Given the description of an element on the screen output the (x, y) to click on. 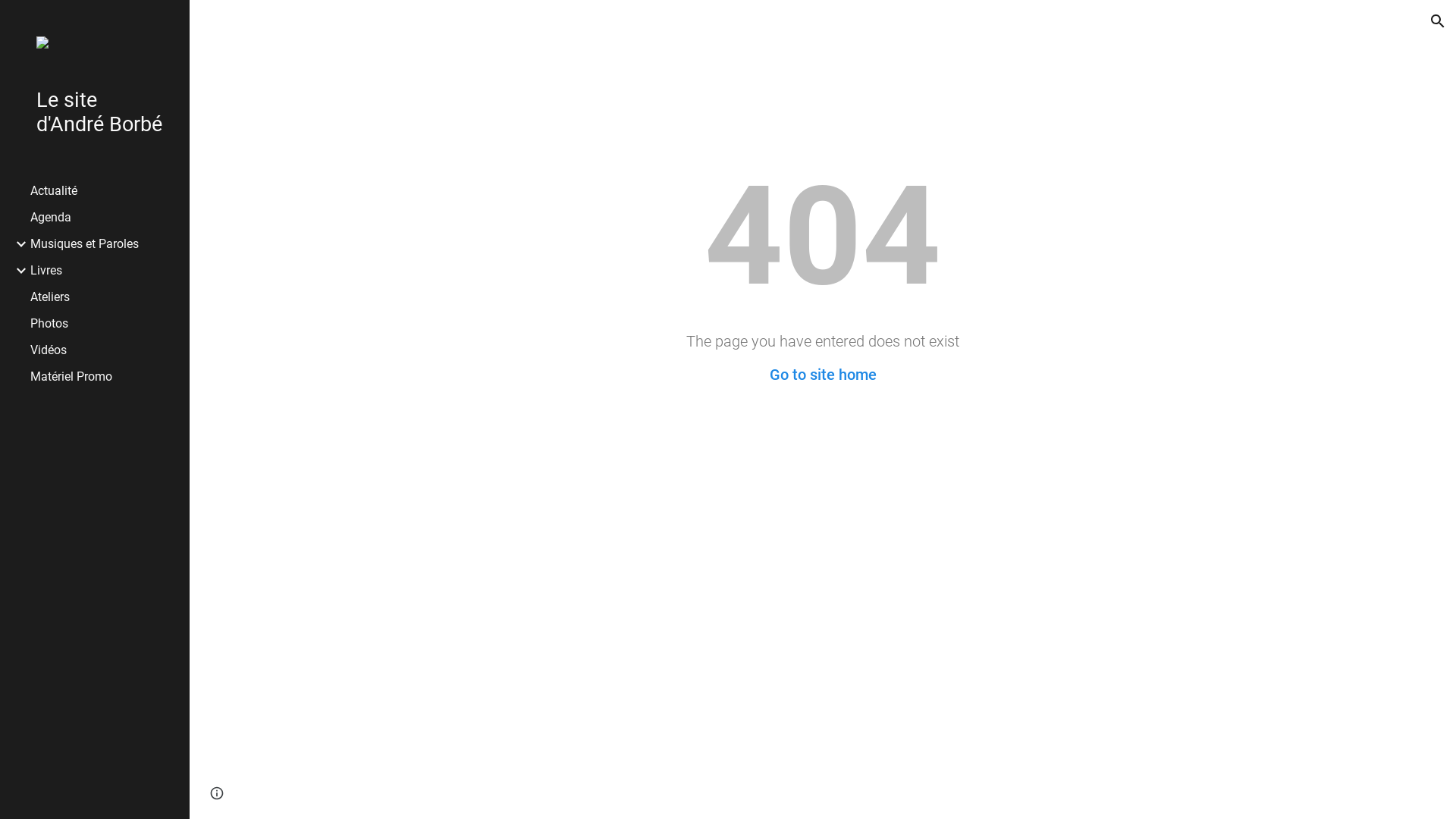
Ateliers Element type: text (103, 296)
Go to site home Element type: text (821, 374)
Agenda Element type: text (103, 217)
Livres Element type: text (103, 270)
Expand/Collapse Element type: hover (16, 269)
Photos Element type: text (103, 323)
Expand/Collapse Element type: hover (16, 244)
Musiques et Paroles Element type: text (103, 243)
